Given the description of an element on the screen output the (x, y) to click on. 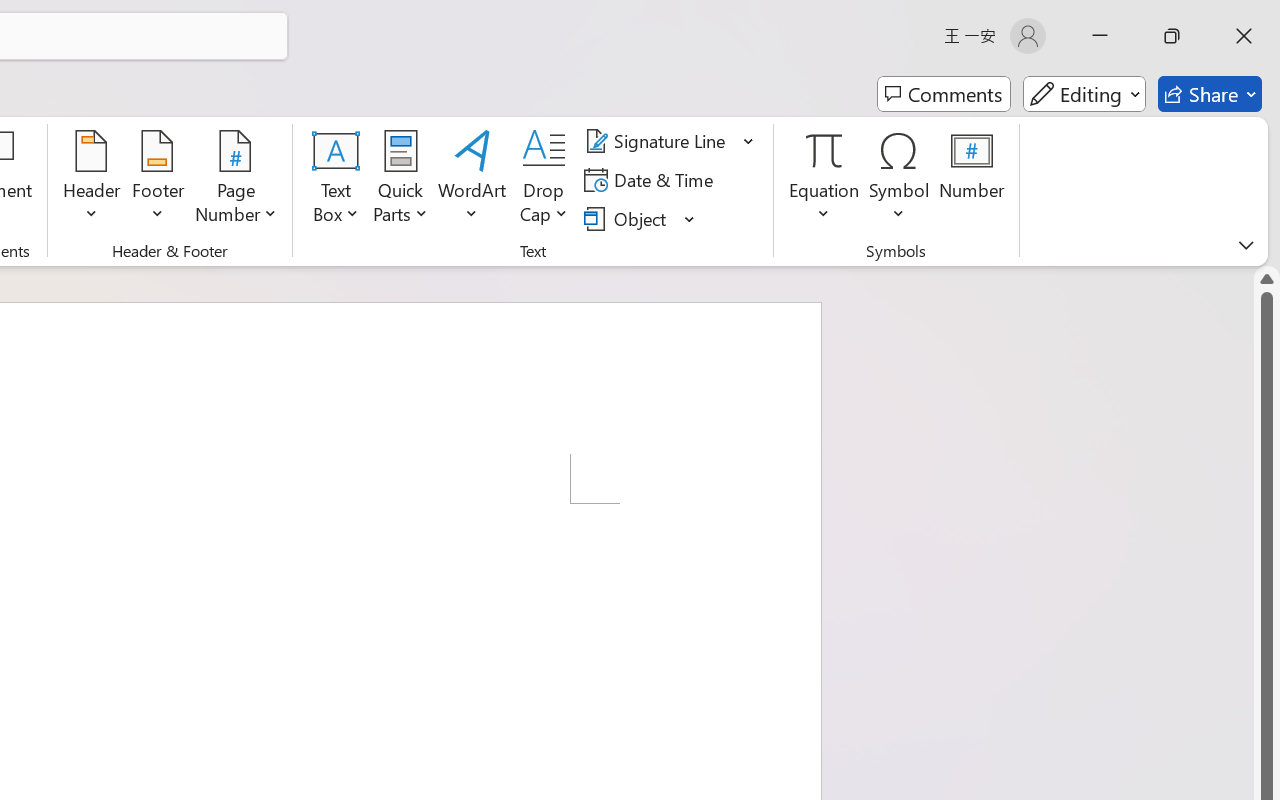
Drop Cap (543, 179)
Symbol (899, 179)
Close (1244, 36)
Quick Parts (400, 179)
Comments (943, 94)
Footer (157, 179)
Signature Line (658, 141)
WordArt (472, 179)
Equation (823, 179)
Line up (1267, 278)
